Given the description of an element on the screen output the (x, y) to click on. 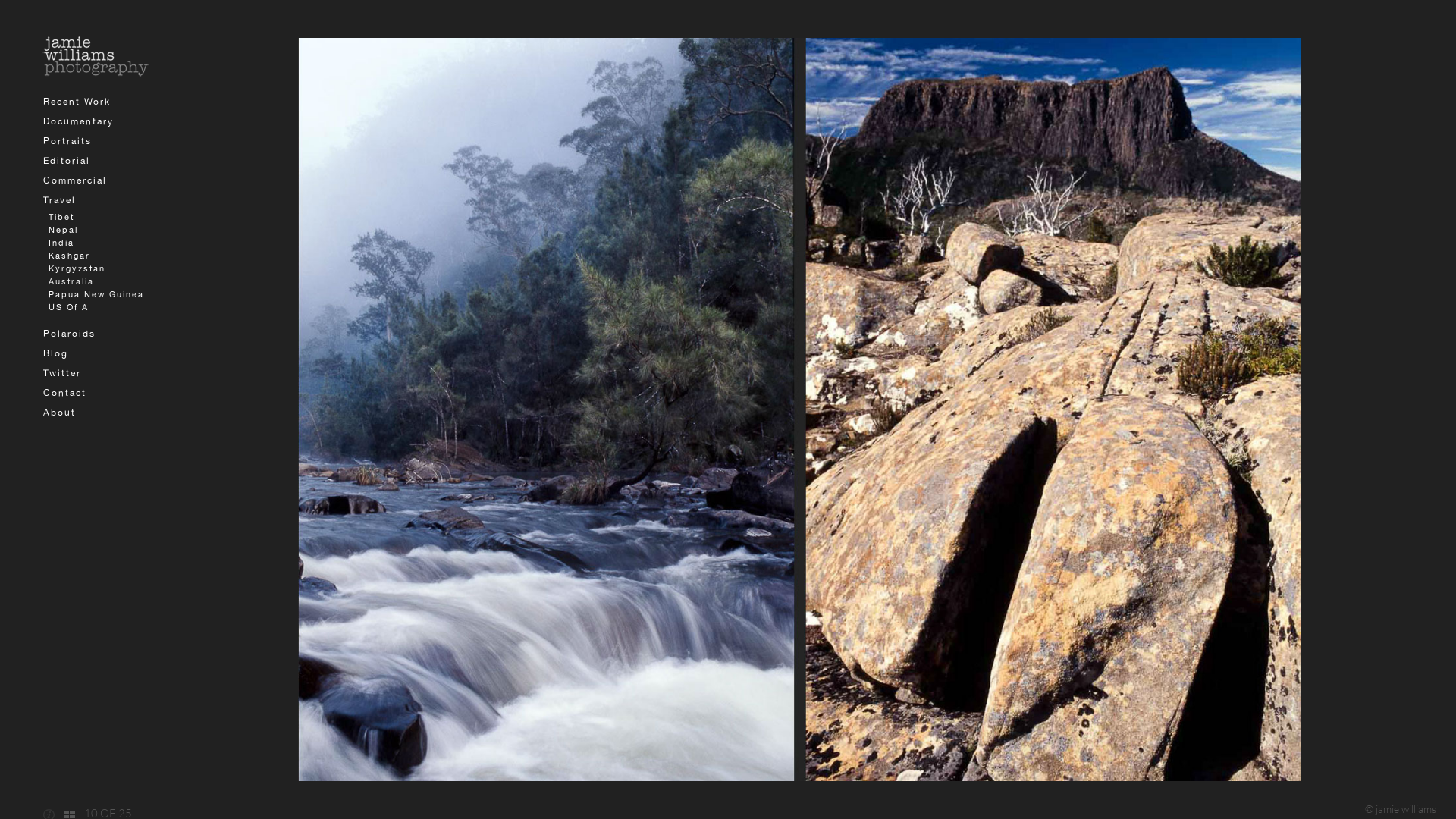
About Element type: text (59, 412)
Blog Element type: text (55, 353)
Kyrgyzstan Element type: text (76, 268)
Portraits Element type: text (67, 140)
Editorial Element type: text (66, 160)
Recent Work Element type: text (76, 101)
Polaroids Element type: text (69, 333)
Twitter Element type: text (62, 372)
India Element type: text (61, 242)
Kashgar Element type: text (69, 255)
Australia Element type: text (71, 280)
Papua New Guinea Element type: text (96, 293)
Travel Element type: text (59, 199)
Commercial Element type: text (74, 180)
US Of A Element type: text (68, 306)
Documentary Element type: text (78, 121)
Tibet Element type: text (61, 216)
Contact Element type: text (64, 392)
Nepal Element type: text (63, 229)
